Given the description of an element on the screen output the (x, y) to click on. 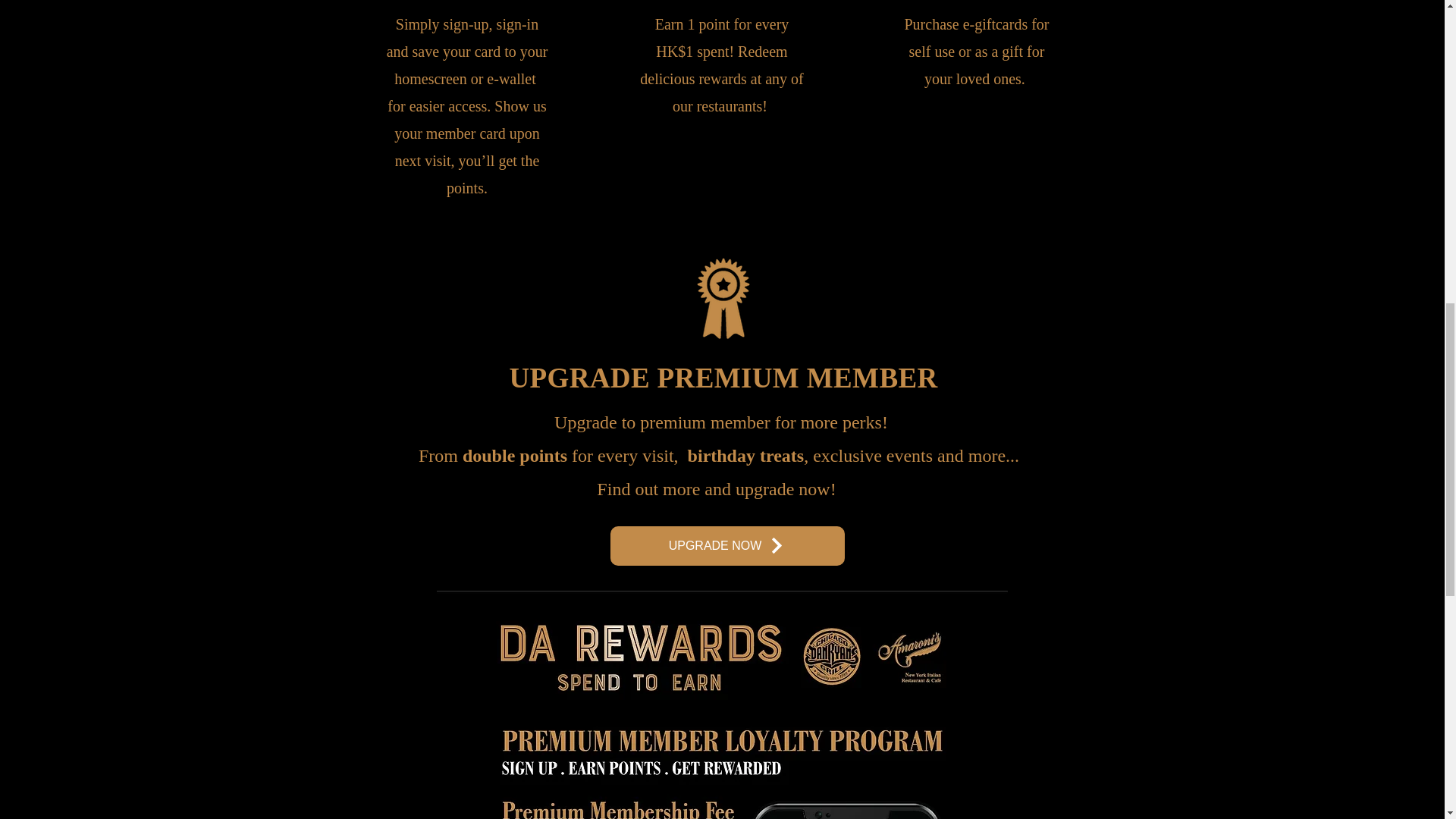
Icon-Rewards.png (721, 1)
Icon-Preminum.png (721, 298)
Icon-Gift Cards.png (973, 1)
UPGRADE NOW (727, 545)
